Given the description of an element on the screen output the (x, y) to click on. 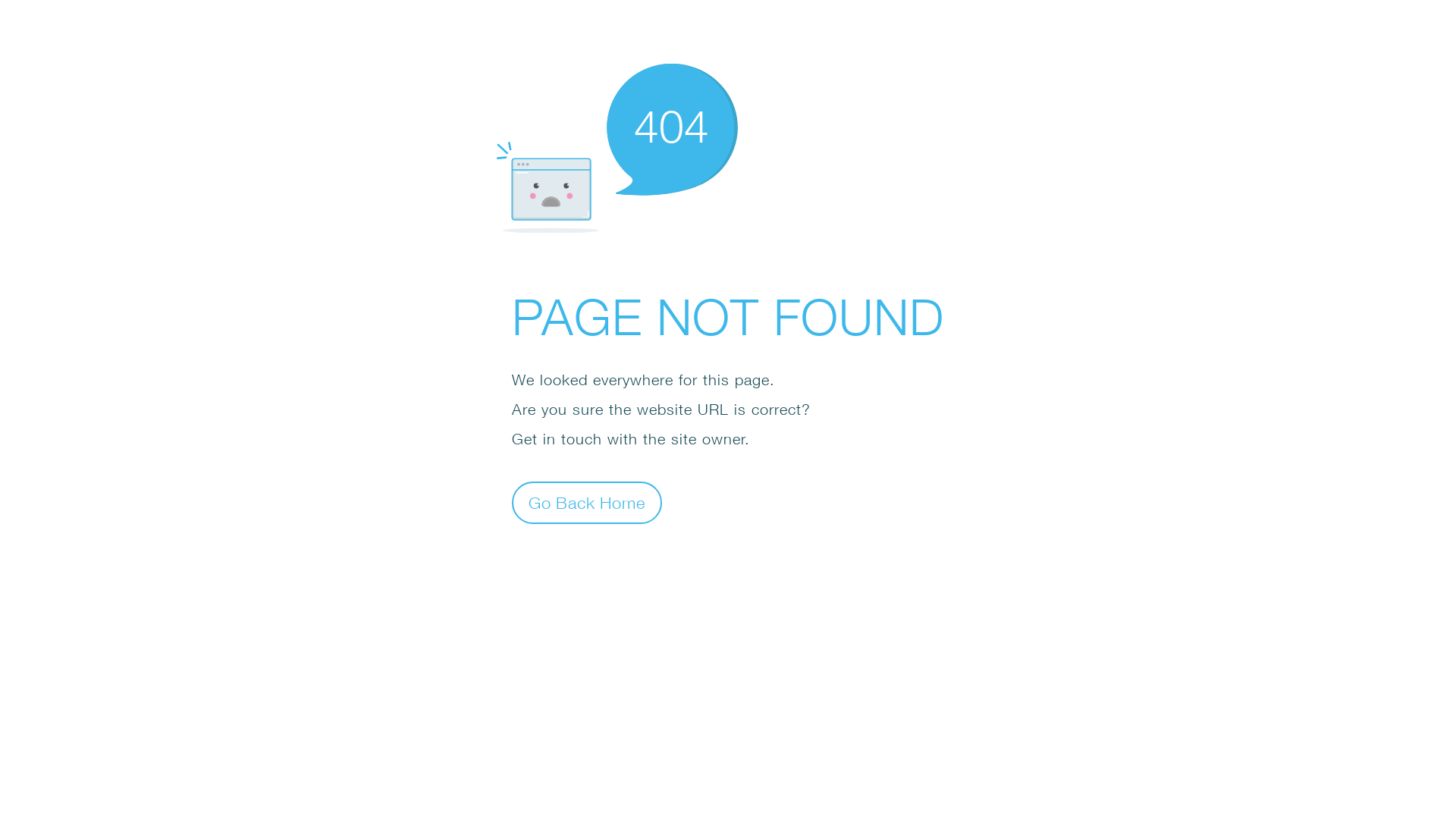
Go Back Home Element type: text (586, 502)
